Given the description of an element on the screen output the (x, y) to click on. 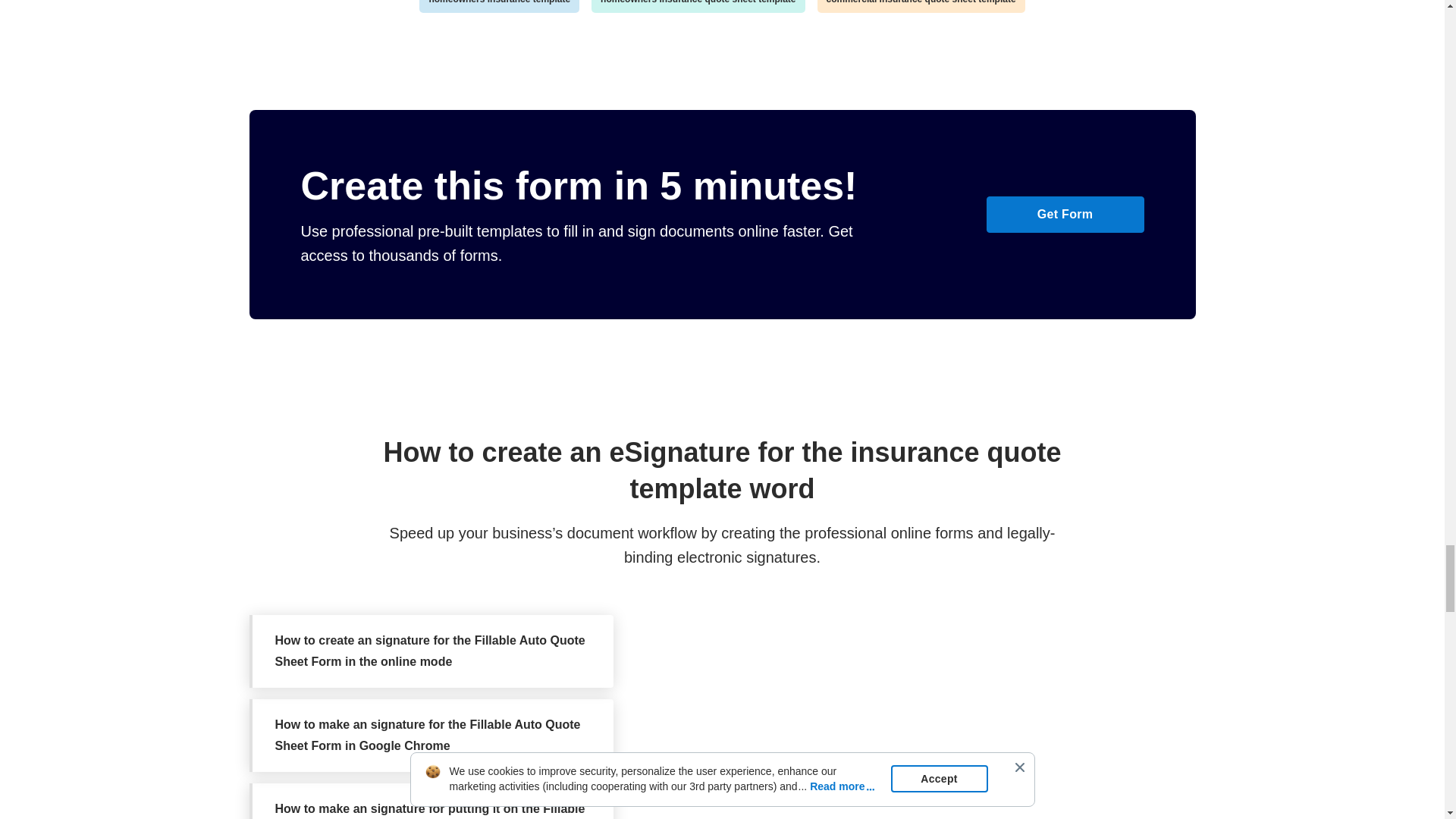
Get Form (1063, 214)
